Given the description of an element on the screen output the (x, y) to click on. 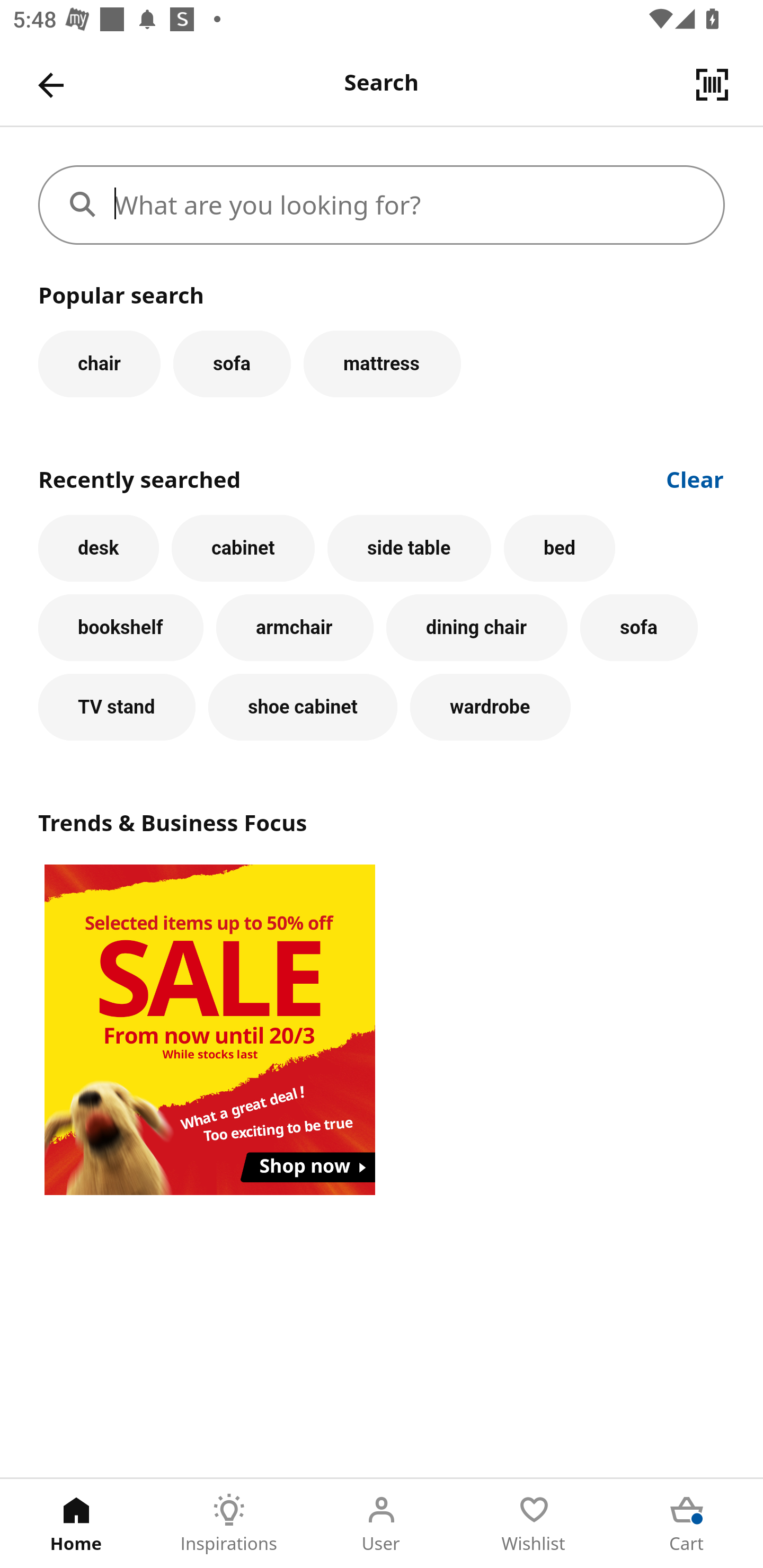
chair (99, 363)
sofa (231, 363)
mattress (381, 363)
Clear (695, 477)
desk (98, 547)
cabinet (242, 547)
side table (409, 547)
bed (558, 547)
bookshelf (120, 627)
armchair (294, 627)
dining chair (476, 627)
sofa (638, 627)
TV stand (116, 707)
shoe cabinet (302, 707)
wardrobe (490, 707)
Home
Tab 1 of 5 (76, 1522)
Inspirations
Tab 2 of 5 (228, 1522)
User
Tab 3 of 5 (381, 1522)
Wishlist
Tab 4 of 5 (533, 1522)
Cart
Tab 5 of 5 (686, 1522)
